Given the description of an element on the screen output the (x, y) to click on. 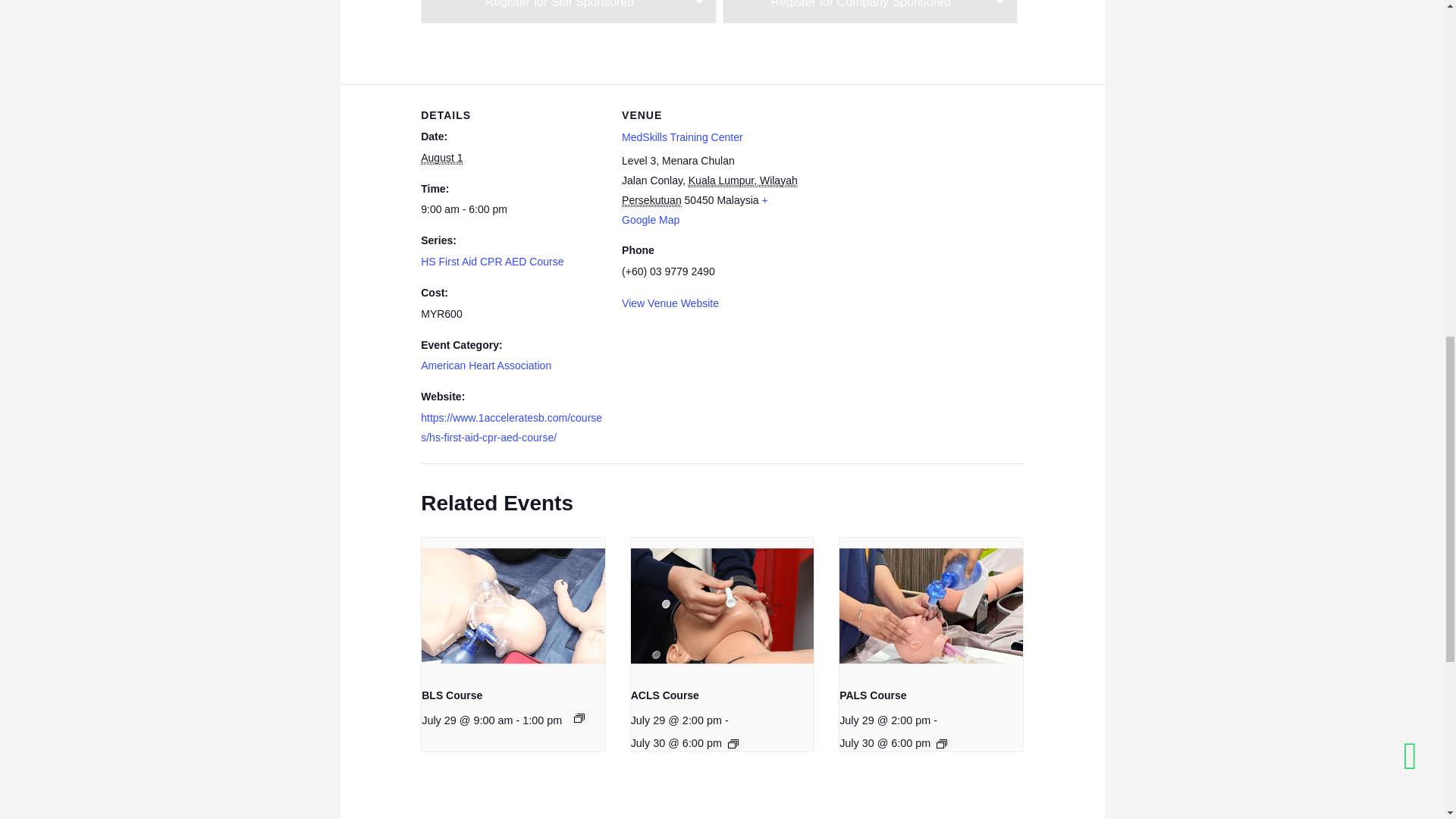
2024-08-01 (512, 209)
Event Series (579, 717)
Kuala Lumpur, Wilayah Persekutuan (709, 190)
Click to view a Google Map (694, 210)
Event Series (733, 743)
2024-08-01 (441, 157)
HS First Aid CPR AED Course (491, 261)
